Given the description of an element on the screen output the (x, y) to click on. 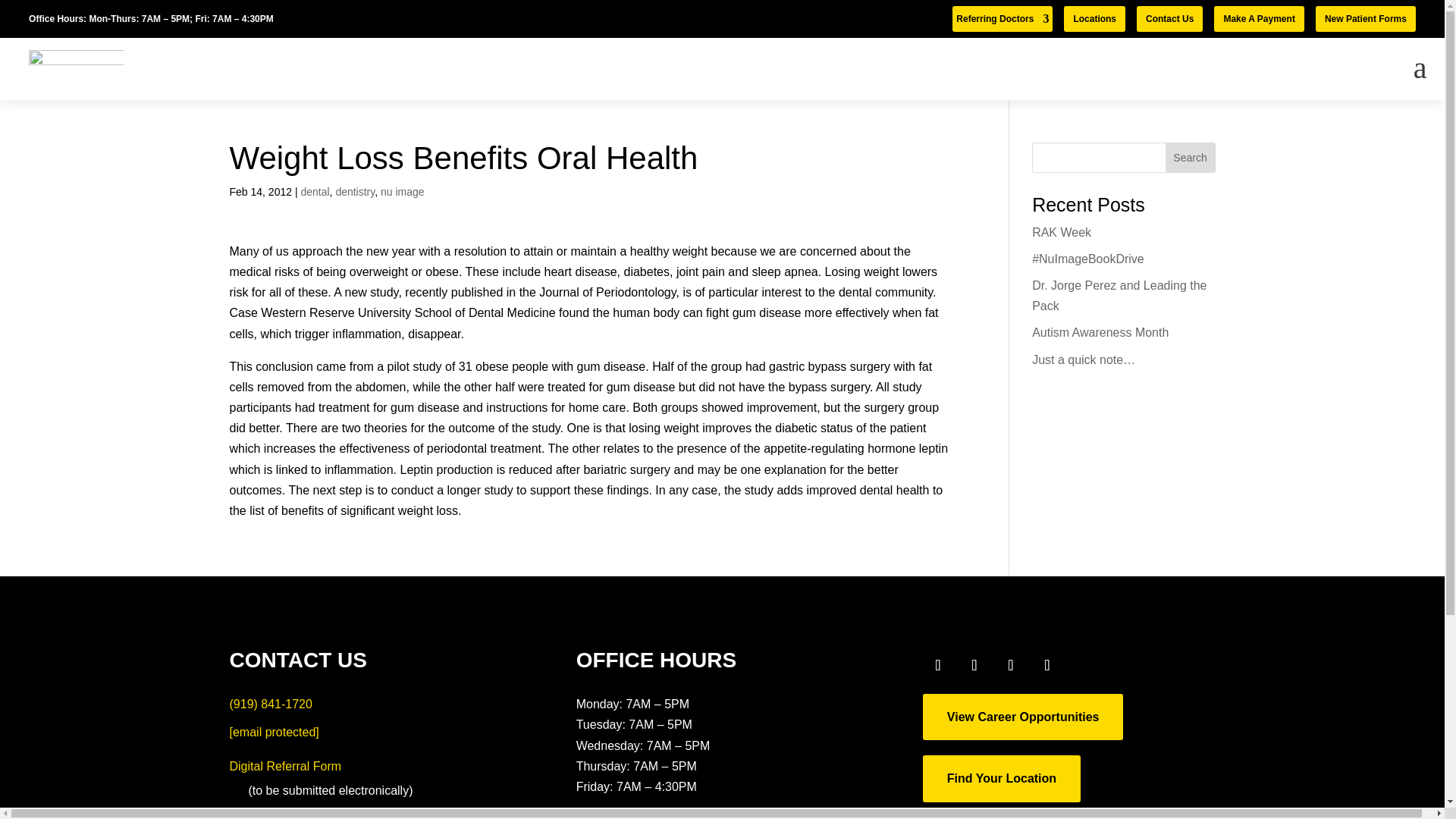
Search (1190, 157)
Follow on LinkedIn (1047, 665)
Follow on Facebook (938, 665)
Contact Us (1169, 18)
New Patient Forms (1365, 18)
Follow on Pinterest (1083, 665)
Locations (1094, 18)
Make A Payment (1258, 18)
Follow on Youtube (1010, 665)
logo-black (76, 68)
Follow on Instagram (974, 665)
Referring Doctors (1002, 21)
